Given the description of an element on the screen output the (x, y) to click on. 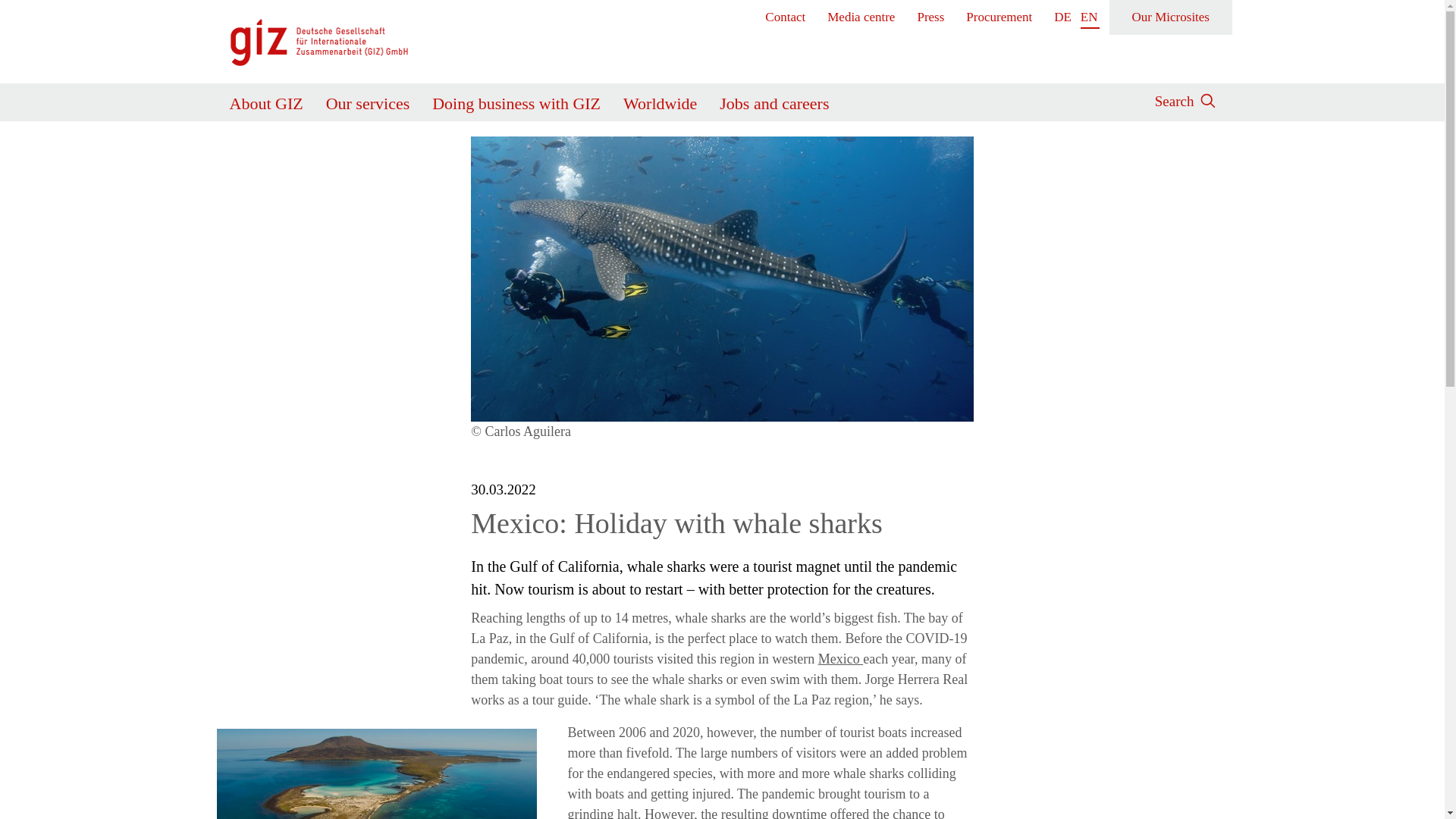
Contact (785, 17)
Press (930, 17)
Search (1173, 98)
Our Microsites (1170, 17)
EN (1089, 17)
German (1063, 17)
Mexico (840, 658)
Doing business with GIZ (515, 99)
Media centre (861, 17)
English (1089, 17)
Worldwide (660, 99)
DE (1063, 17)
Search (986, 151)
Our services (368, 99)
About GIZ (265, 99)
